Given the description of an element on the screen output the (x, y) to click on. 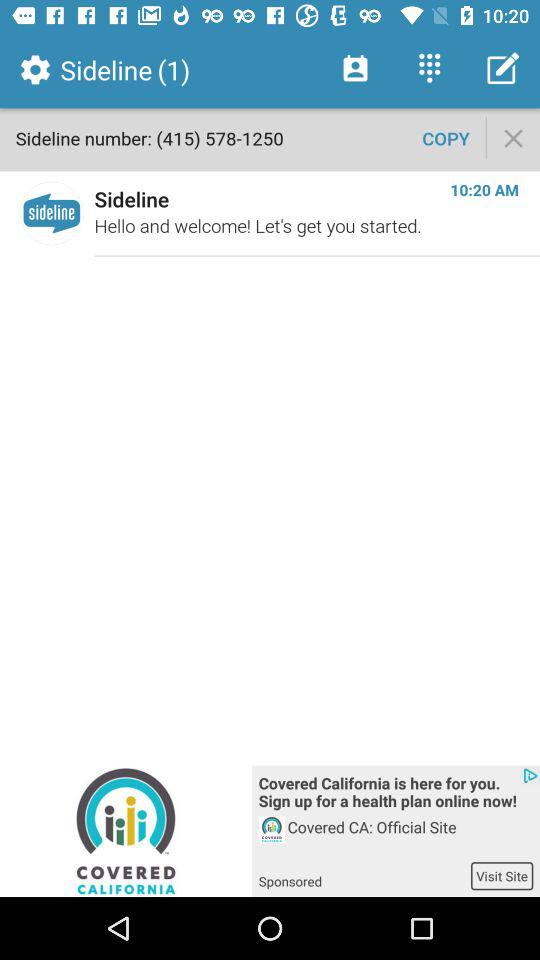
tap copy icon (446, 138)
